Given the description of an element on the screen output the (x, y) to click on. 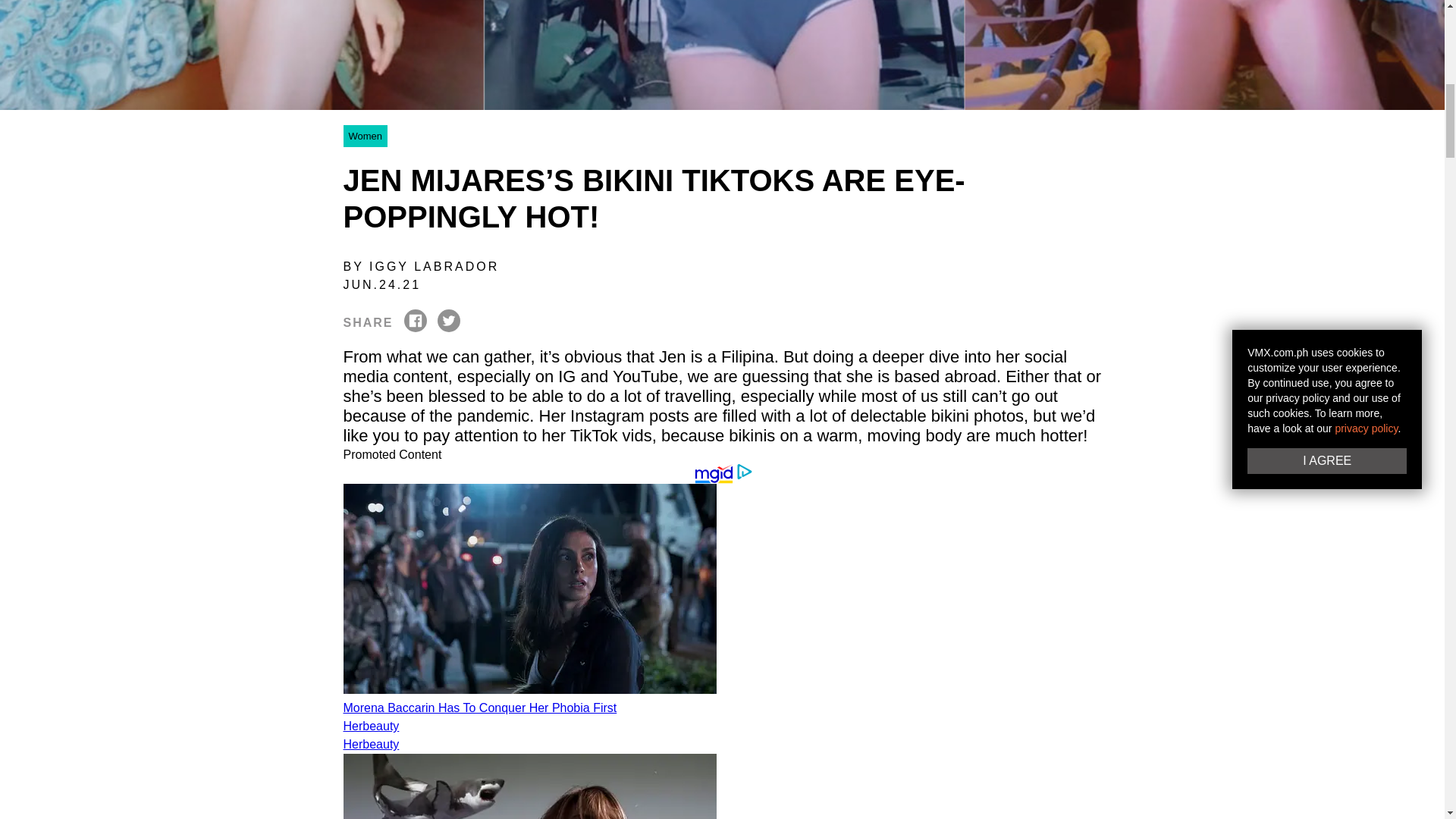
Women (364, 134)
